Given the description of an element on the screen output the (x, y) to click on. 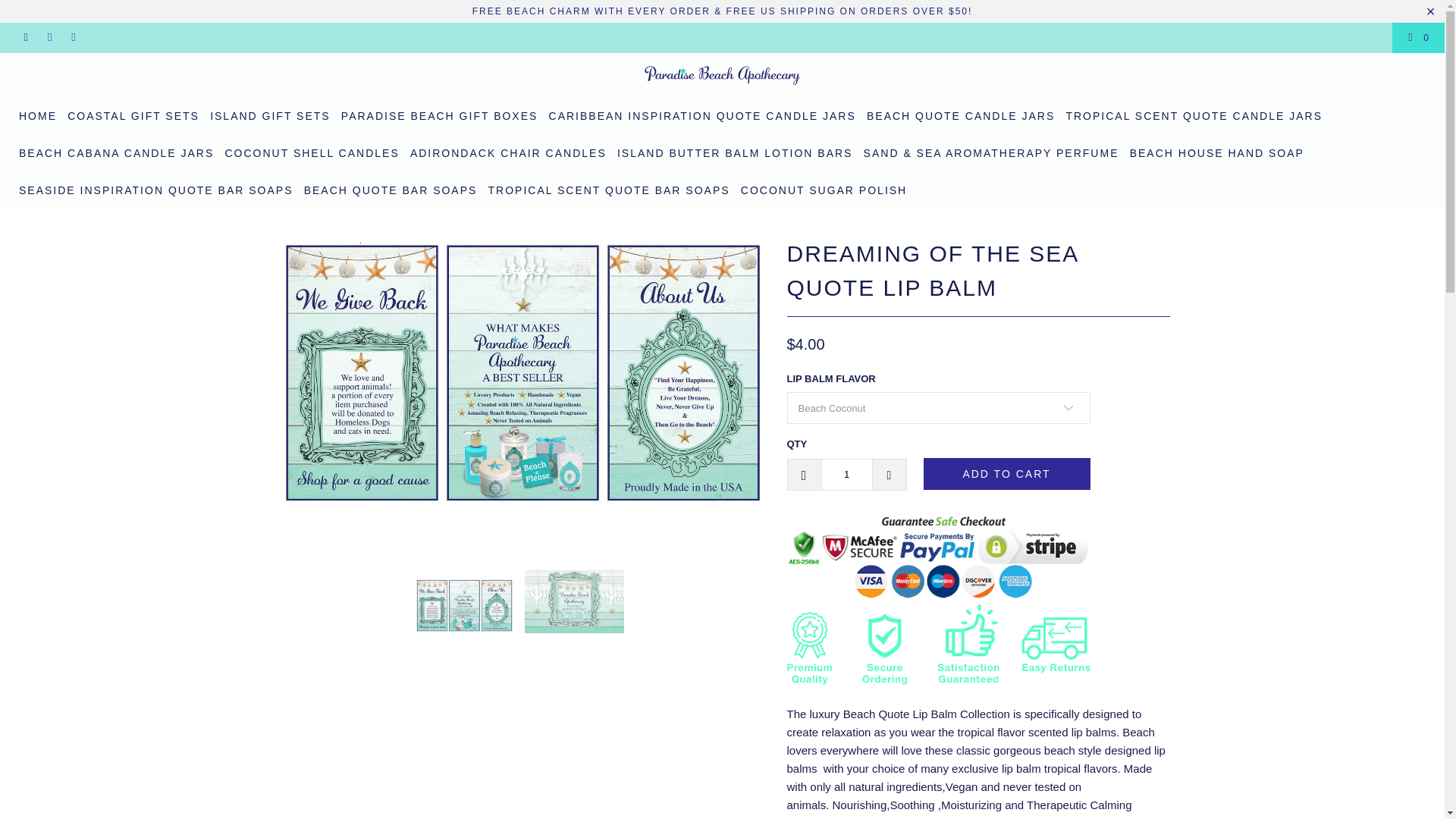
Paradise Beach Apothecary on Pinterest (48, 37)
1 (846, 473)
Paradise Beach Apothecary on Facebook (25, 37)
Paradise Beach Apothecary on Instagram (73, 37)
